Given the description of an element on the screen output the (x, y) to click on. 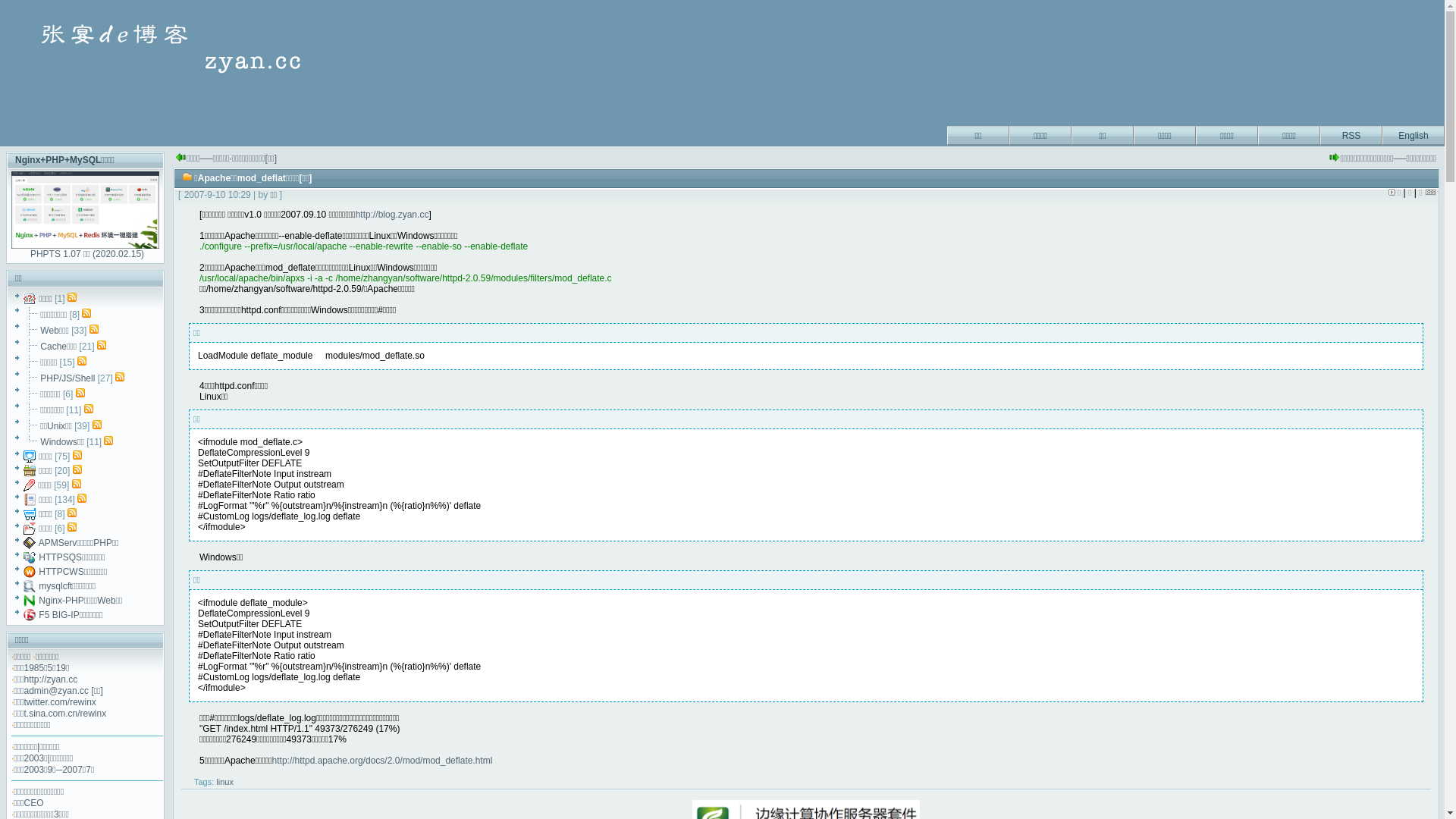
English Element type: text (1413, 133)
http://blog.zyan.cc Element type: text (392, 214)
http://httpd.apache.org/docs/2.0/mod/mod_deflate.html Element type: text (382, 760)
PHP/JS/Shell Element type: text (67, 378)
twitter.com/rewinx Element type: text (60, 701)
RSS Element type: text (1351, 133)
http://zyan.cc Element type: text (51, 679)
t.sina.com.cn/rewinx Element type: text (65, 713)
linux Element type: text (224, 781)
